Given the description of an element on the screen output the (x, y) to click on. 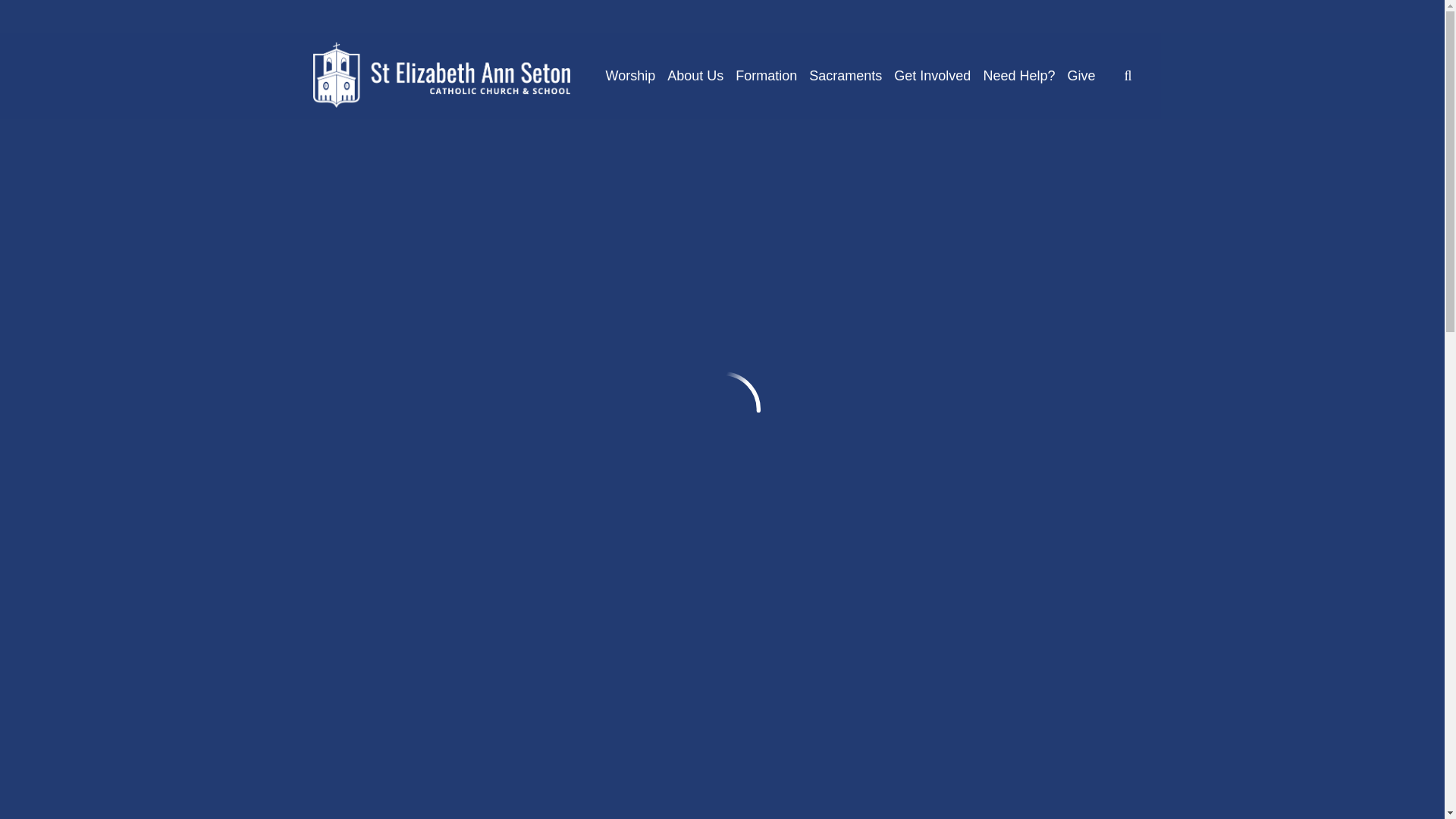
Worship (630, 75)
Formation (765, 75)
About Us (694, 75)
Sacraments (845, 75)
